Given the description of an element on the screen output the (x, y) to click on. 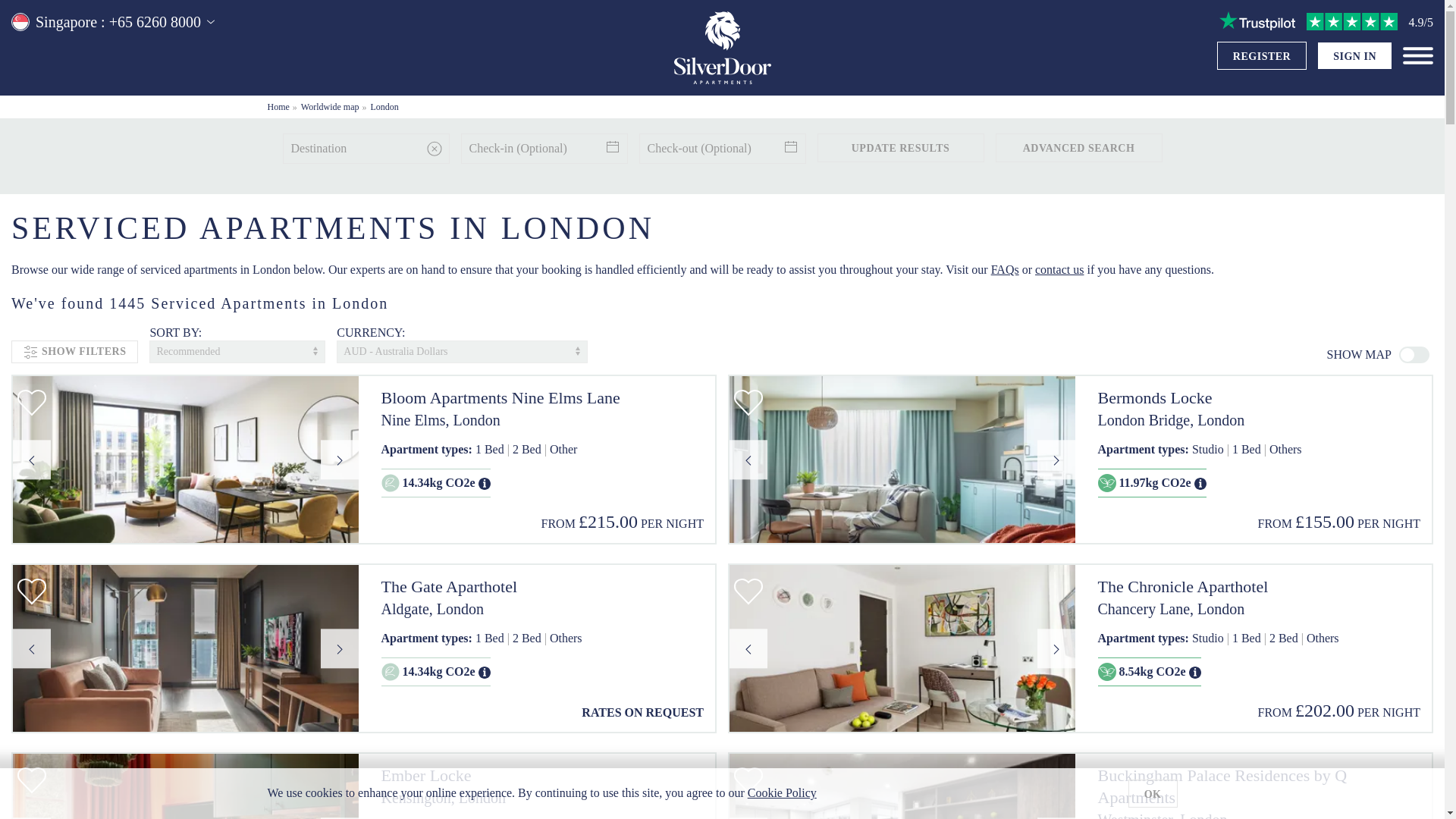
Home (277, 106)
The Chronicle Aparthotel (1259, 587)
London (384, 106)
contact us (1059, 269)
Buckingham Palace Residences by Q Apartments (1259, 786)
Bloom Apartments Nine Elms Lane (541, 398)
Worldwide map (330, 106)
The Gate Aparthotel (541, 587)
Update Results (900, 147)
Update Results (900, 147)
REGISTER (1261, 55)
Ember Locke (541, 775)
SIGN IN (1354, 55)
SHOW FILTERS (74, 351)
Update Results (900, 147)
